Given the description of an element on the screen output the (x, y) to click on. 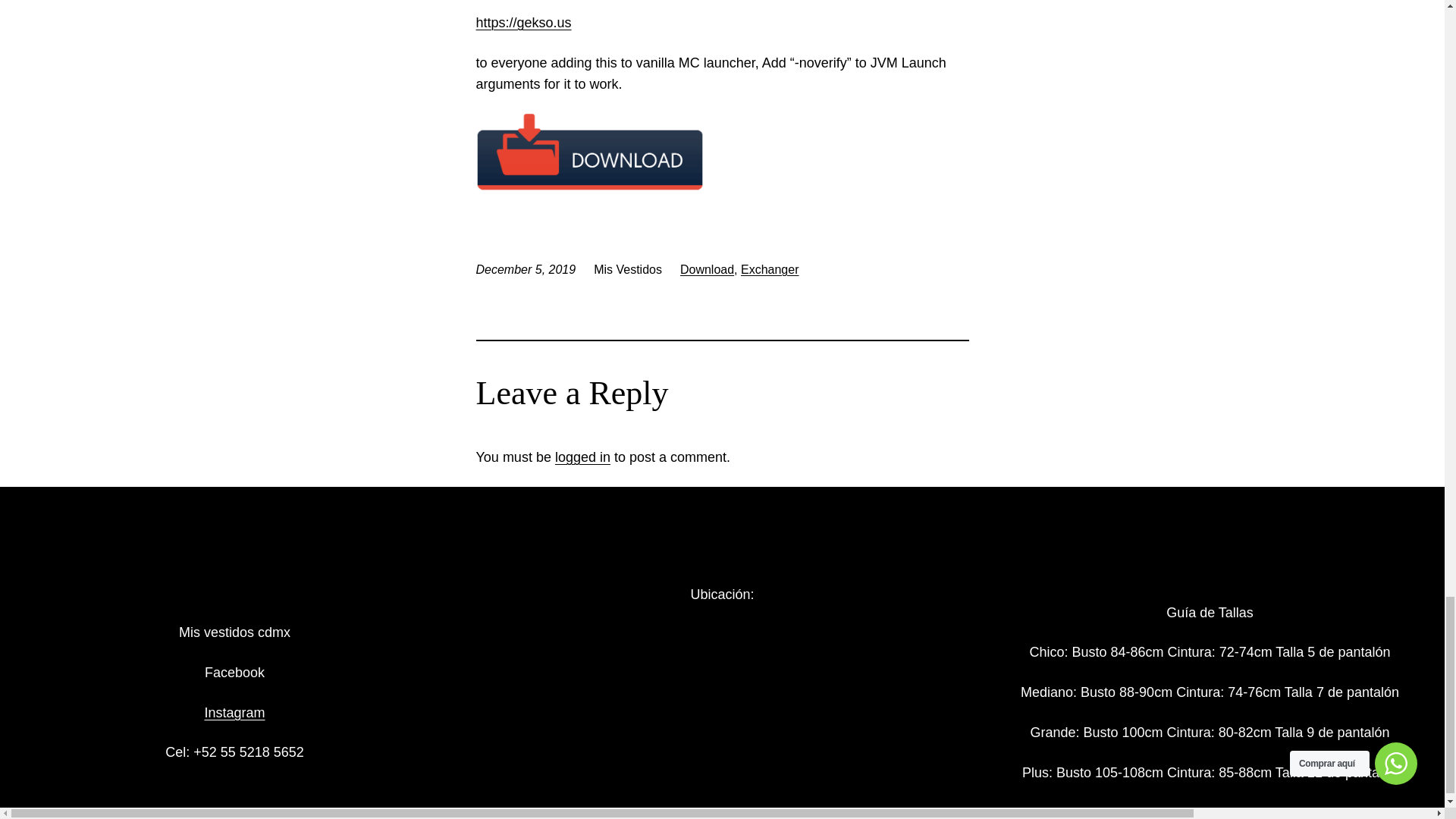
Download (706, 269)
Facebook (234, 672)
logged in (582, 457)
Exchanger (770, 269)
Instagram (233, 712)
